Given the description of an element on the screen output the (x, y) to click on. 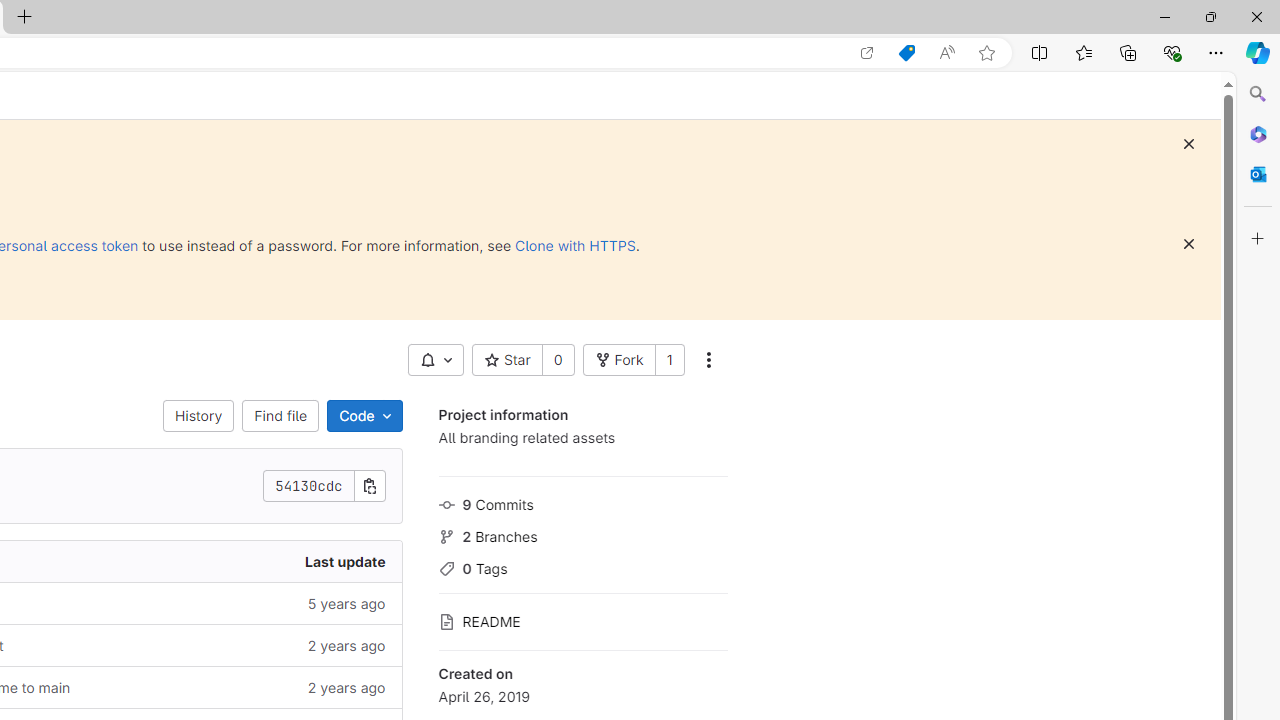
2 Branches (582, 534)
Code (364, 416)
Class: s16 icon gl-mr-3 gl-text-gray-500 (445, 622)
Clone with HTTPS (575, 245)
0 Tags (582, 566)
Class: s16 gl-icon gl-button-icon  (1188, 243)
 Star (506, 359)
More actions (708, 359)
0 (557, 359)
